Given the description of an element on the screen output the (x, y) to click on. 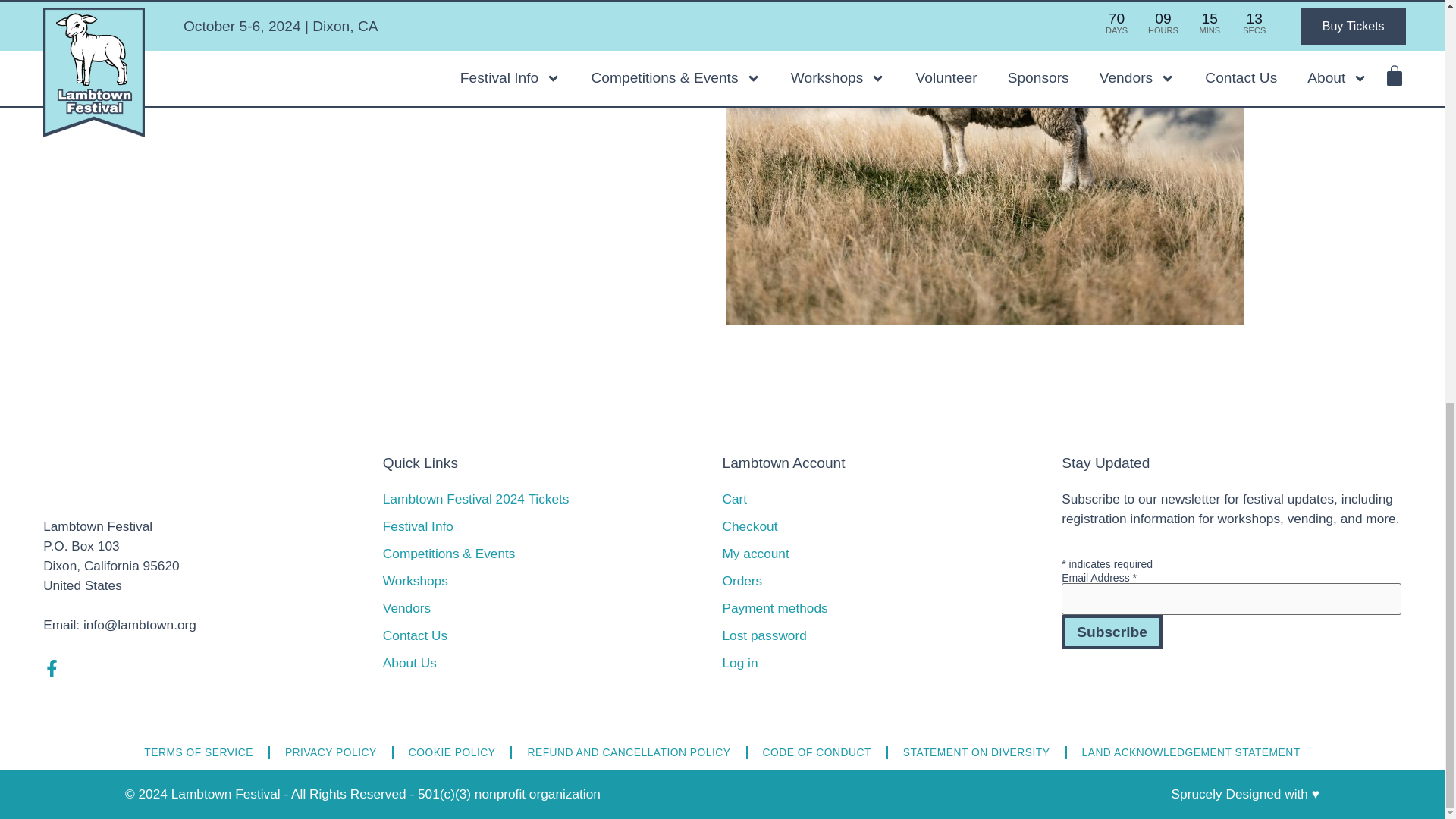
Subscribe (1111, 632)
